Given the description of an element on the screen output the (x, y) to click on. 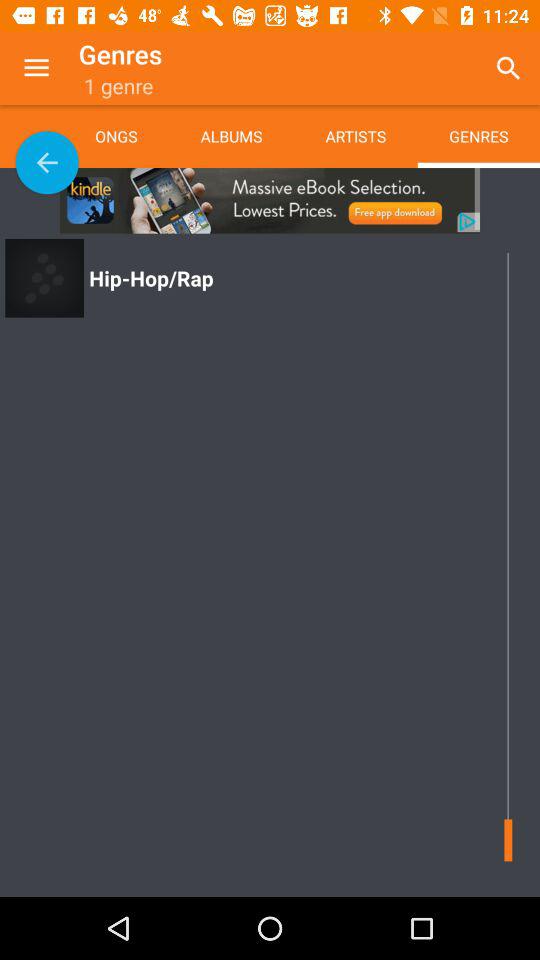
turn off the item to the left of artists (231, 136)
